Given the description of an element on the screen output the (x, y) to click on. 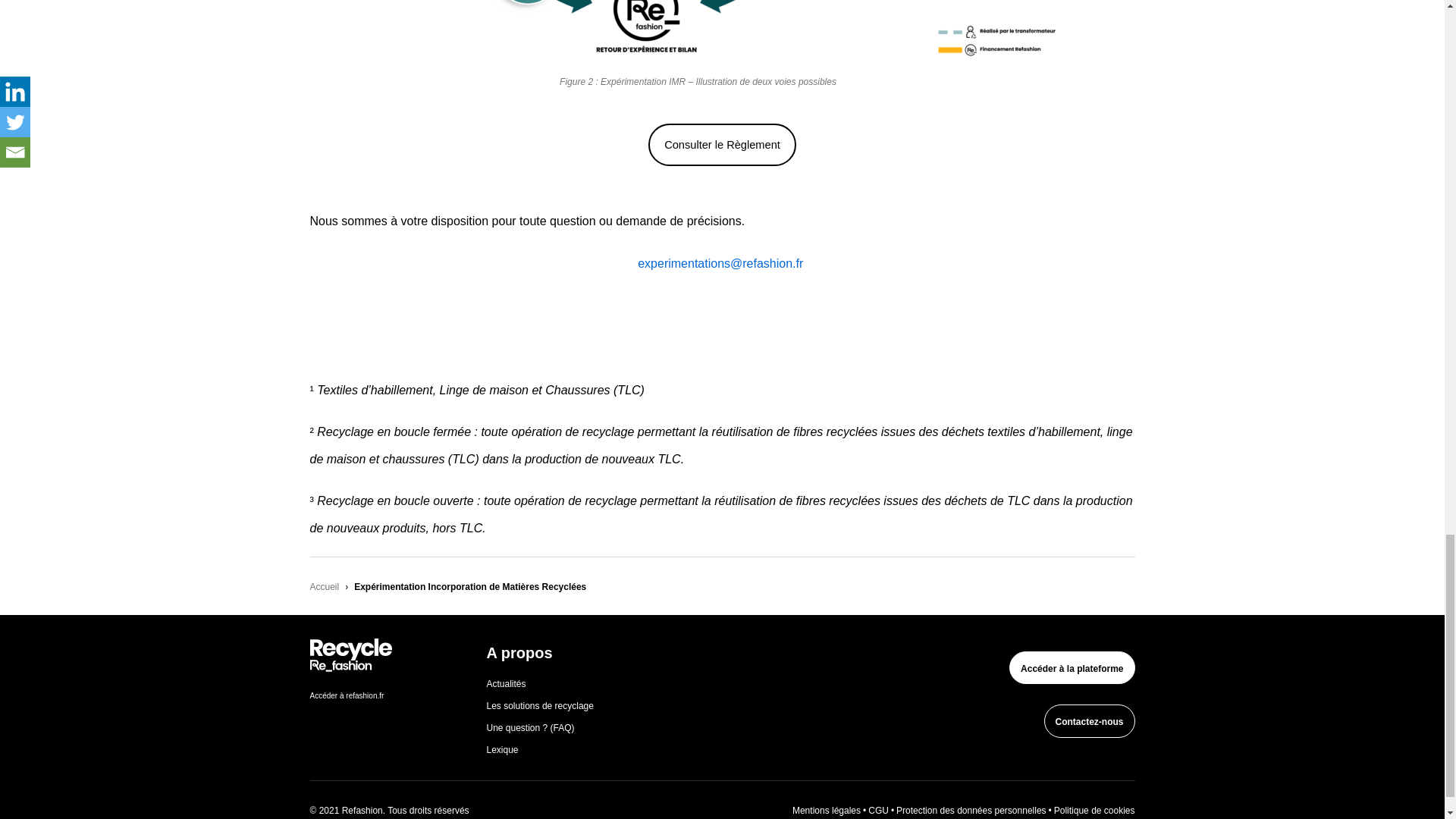
Contactez-nous (1088, 720)
Les solutions de recyclage (540, 706)
Accueil (323, 585)
Lexique (502, 749)
CGU (877, 810)
Politique de cookies (1094, 810)
